Given the description of an element on the screen output the (x, y) to click on. 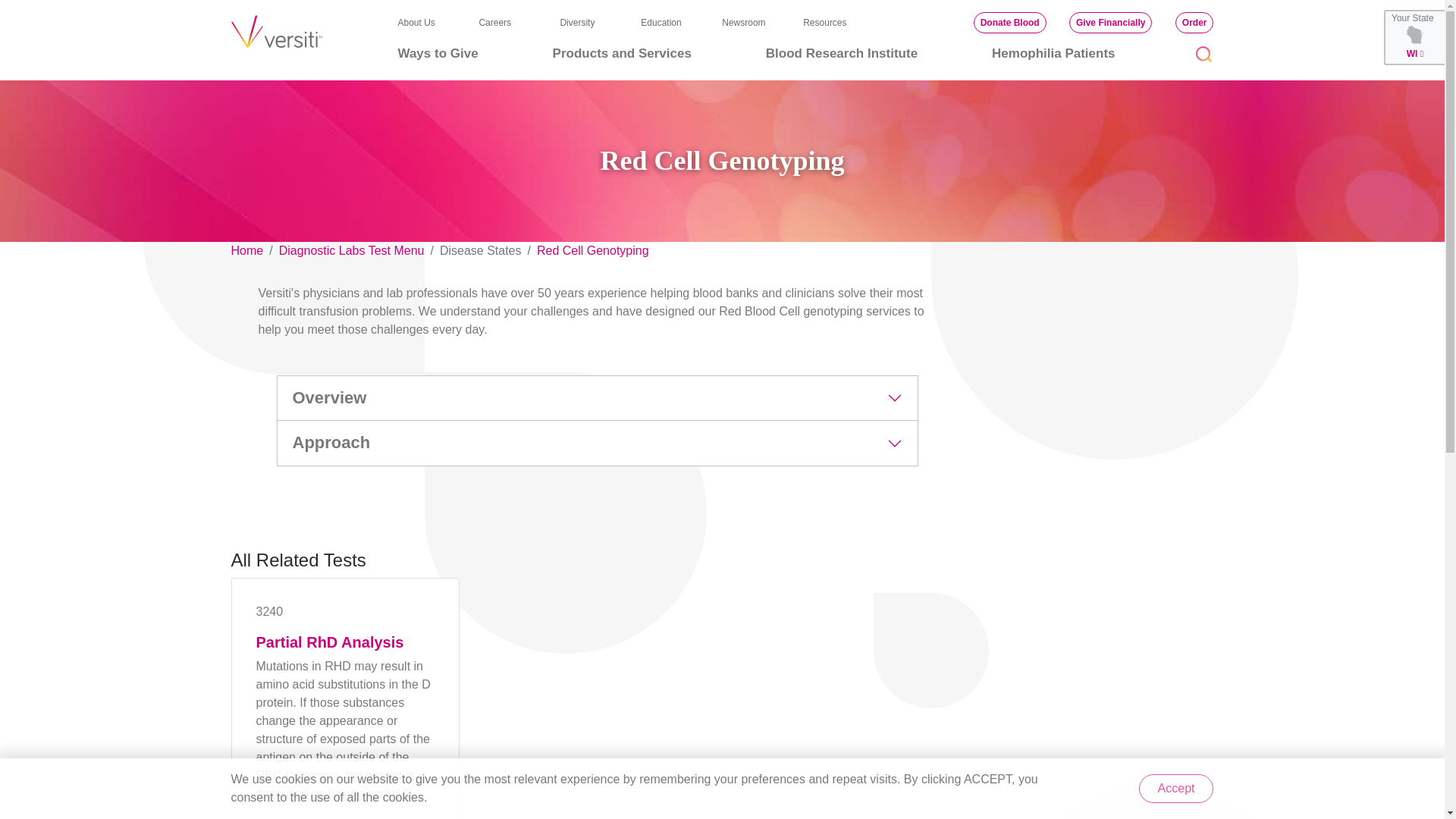
Diversity (576, 22)
Donate Blood (1010, 22)
Education (660, 22)
Order (1194, 22)
About Us (415, 22)
Careers (495, 22)
Ways to Give (437, 52)
Newsroom (743, 22)
Give Financially (1109, 22)
Resources (824, 22)
